Given the description of an element on the screen output the (x, y) to click on. 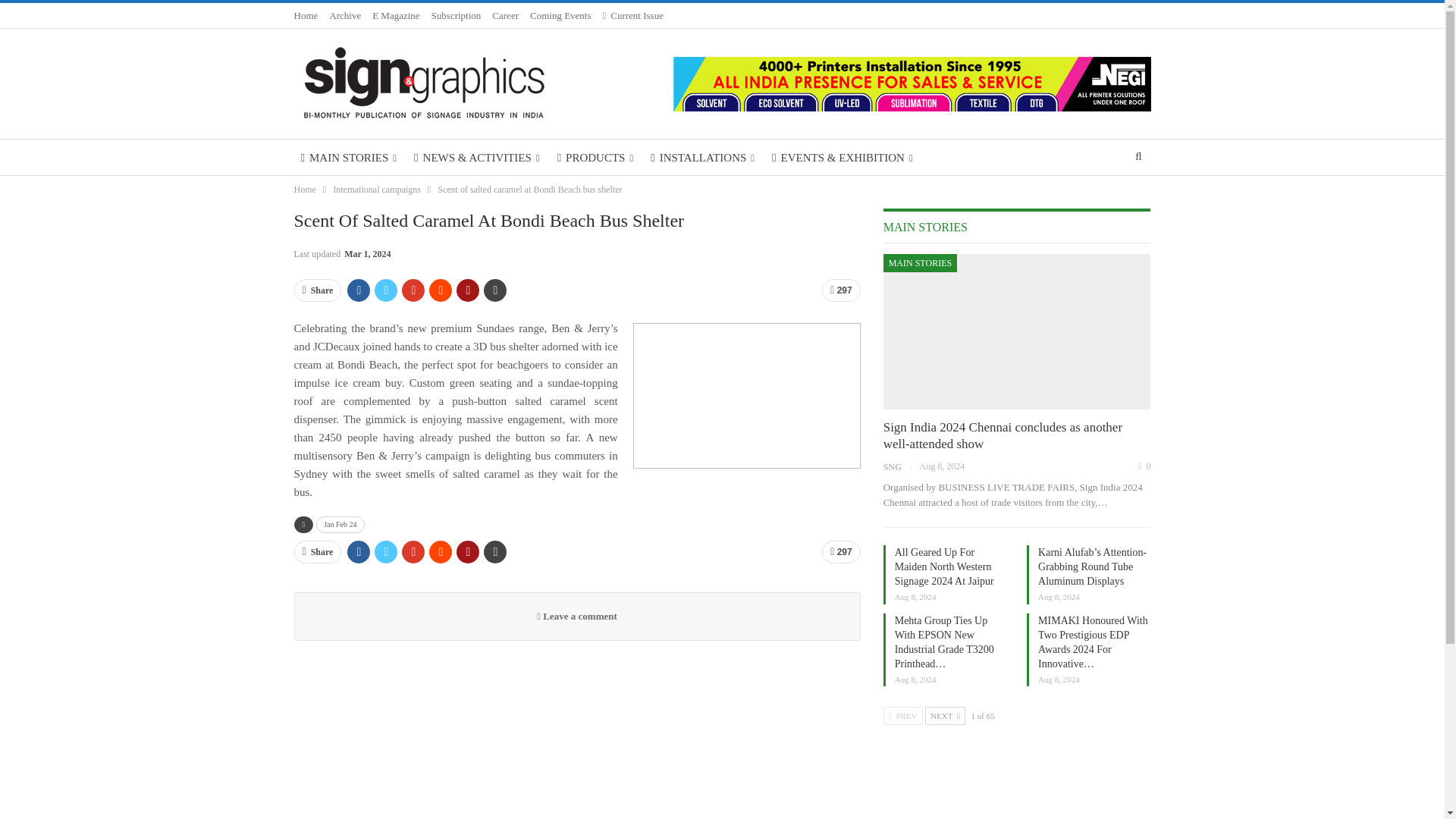
E Magazine (395, 15)
Archive (345, 15)
Coming Events (560, 15)
MAIN STORIES (349, 157)
Current Issue (632, 15)
Career (505, 15)
Subscription (455, 15)
Home (306, 15)
